Given the description of an element on the screen output the (x, y) to click on. 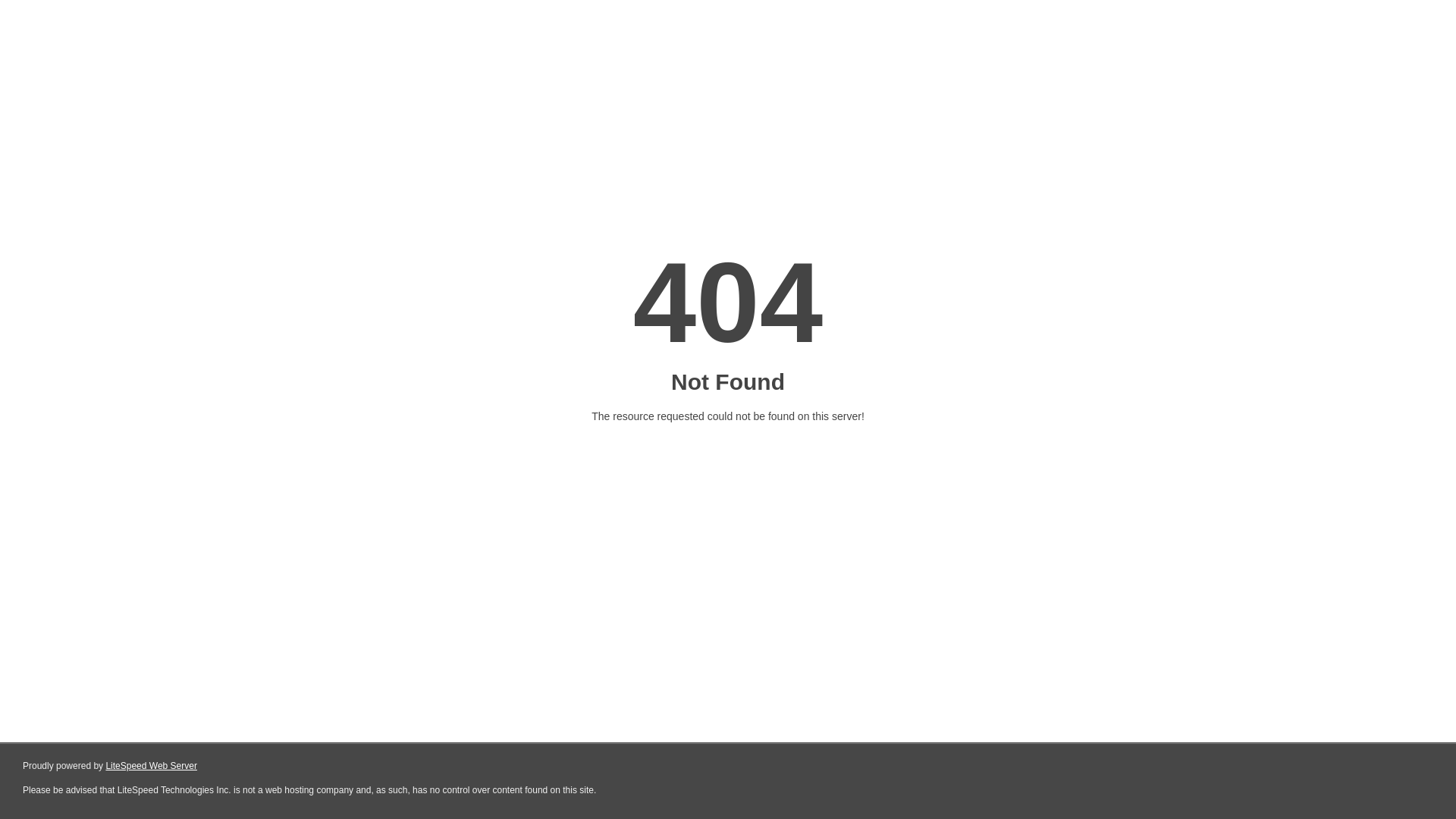
LiteSpeed Web Server Element type: text (151, 765)
